Given the description of an element on the screen output the (x, y) to click on. 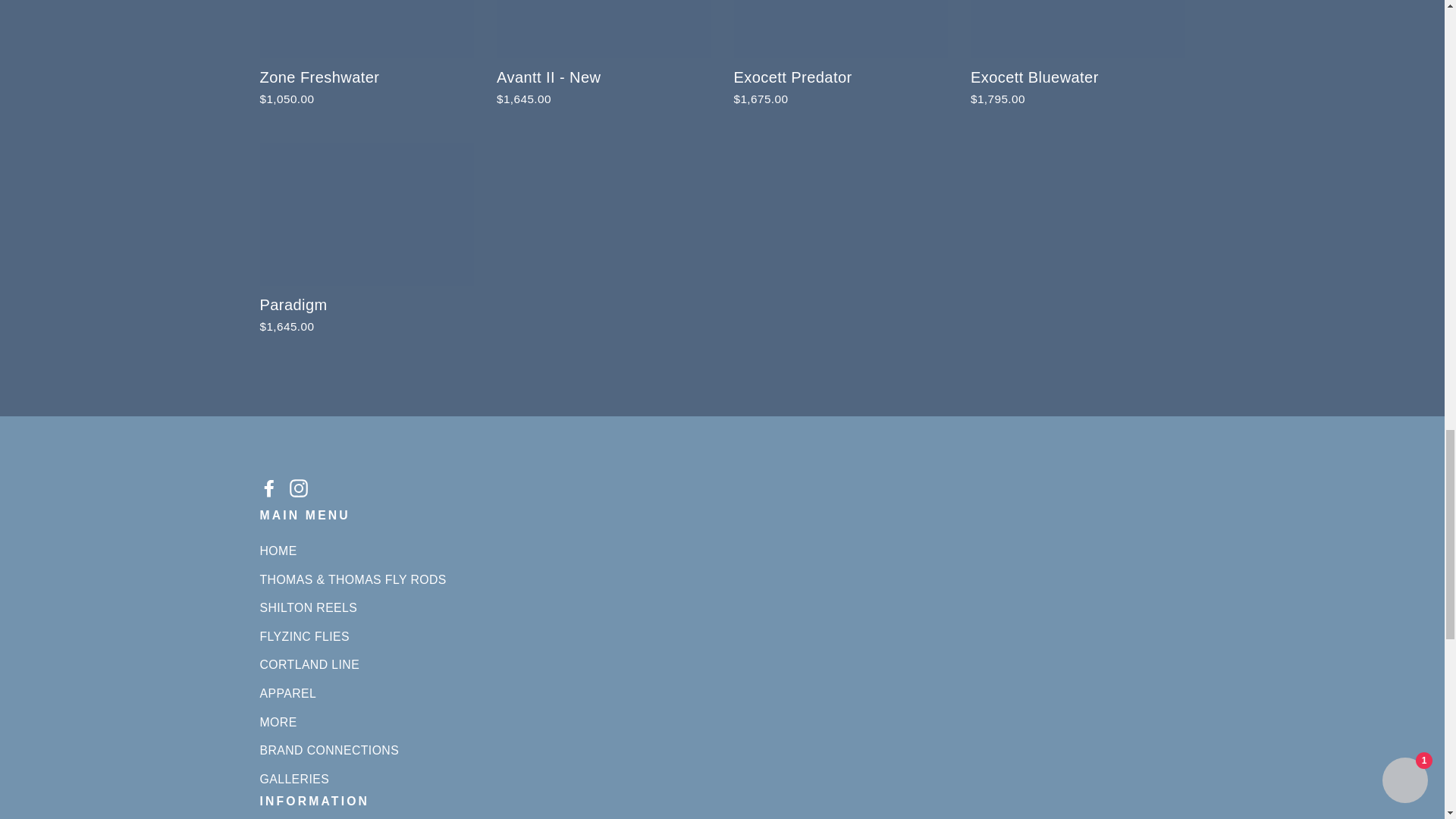
Nervouswater on Facebook (268, 486)
Nervouswater on Instagram (298, 486)
